Given the description of an element on the screen output the (x, y) to click on. 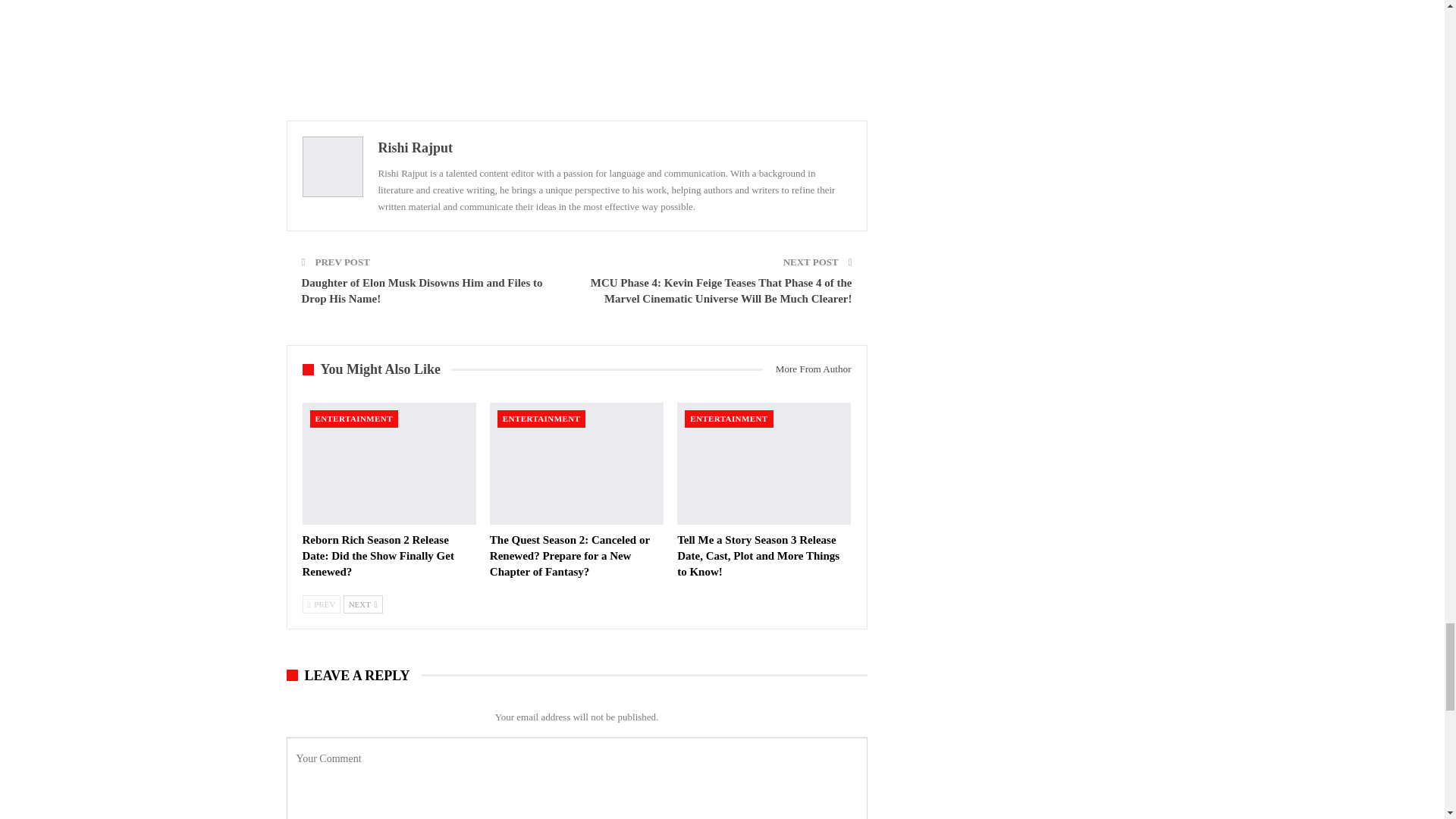
Rishi Rajput (414, 147)
You Might Also Like (376, 369)
More From Author (806, 369)
ENTERTAINMENT (541, 418)
ENTERTAINMENT (352, 418)
